Given the description of an element on the screen output the (x, y) to click on. 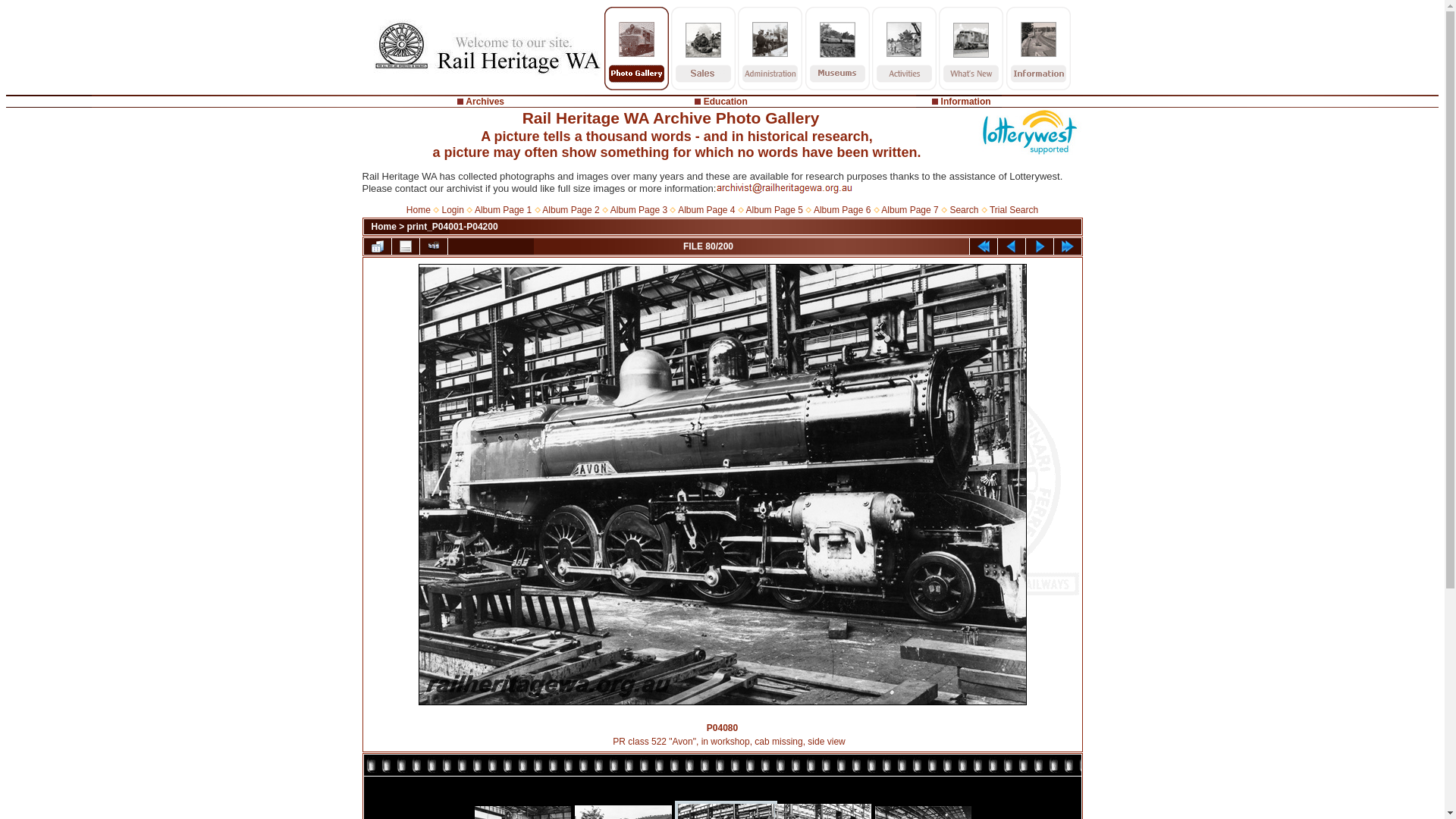
Display/hide file information Element type: hover (404, 246)
Education Element type: text (725, 101)
Slideshow Element type: hover (433, 246)
See previous file Element type: hover (1011, 246)
print_P04001-P04200 Element type: text (452, 226)
Return to start Element type: hover (982, 246)
P04080
PR class 522  Element type: hover (722, 484)
Skip to end Element type: hover (1067, 246)
Album Page 4 Element type: text (705, 209)
Home Element type: text (383, 226)
Login Element type: text (453, 209)
Album Page 5 Element type: text (774, 209)
Trial Search Element type: text (1013, 209)
Information Element type: text (966, 101)
See next file Element type: hover (1038, 246)
Album Page 3 Element type: text (638, 209)
Album Page 2 Element type: text (570, 209)
Album Page 6 Element type: text (841, 209)
Album Page 7 Element type: text (909, 209)
Search Element type: text (963, 209)
Album Page 1 Element type: text (502, 209)
Return to the thumbnail page Element type: hover (377, 246)
Home Element type: text (418, 209)
Archives Element type: text (484, 101)
